Given the description of an element on the screen output the (x, y) to click on. 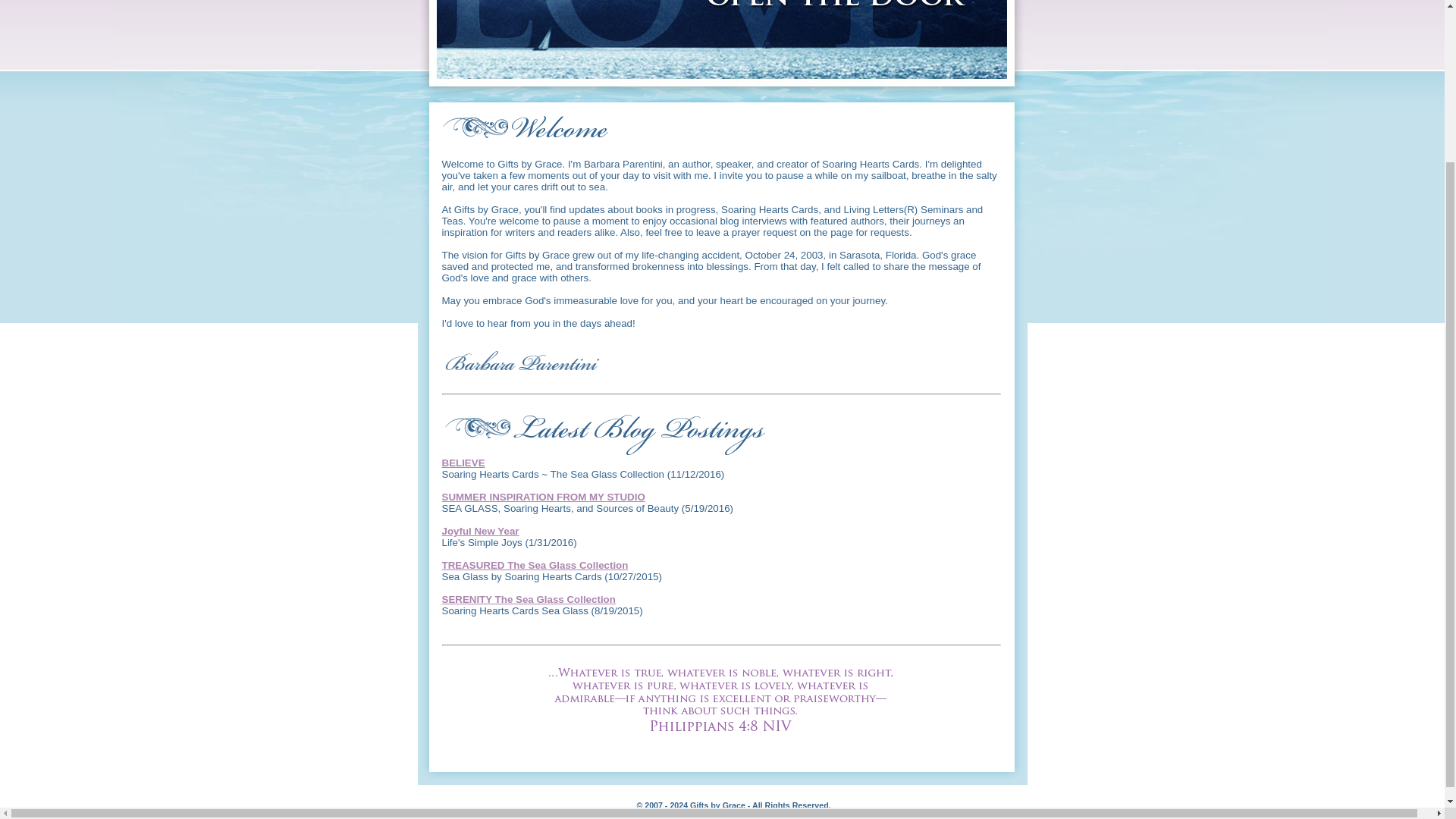
Joyful New Year (479, 531)
SERENITY The Sea Glass Collection (527, 599)
TREASURED The Sea Glass Collection (534, 564)
SUMMER INSPIRATION FROM MY STUDIO (543, 496)
BELIEVE (462, 462)
